Given the description of an element on the screen output the (x, y) to click on. 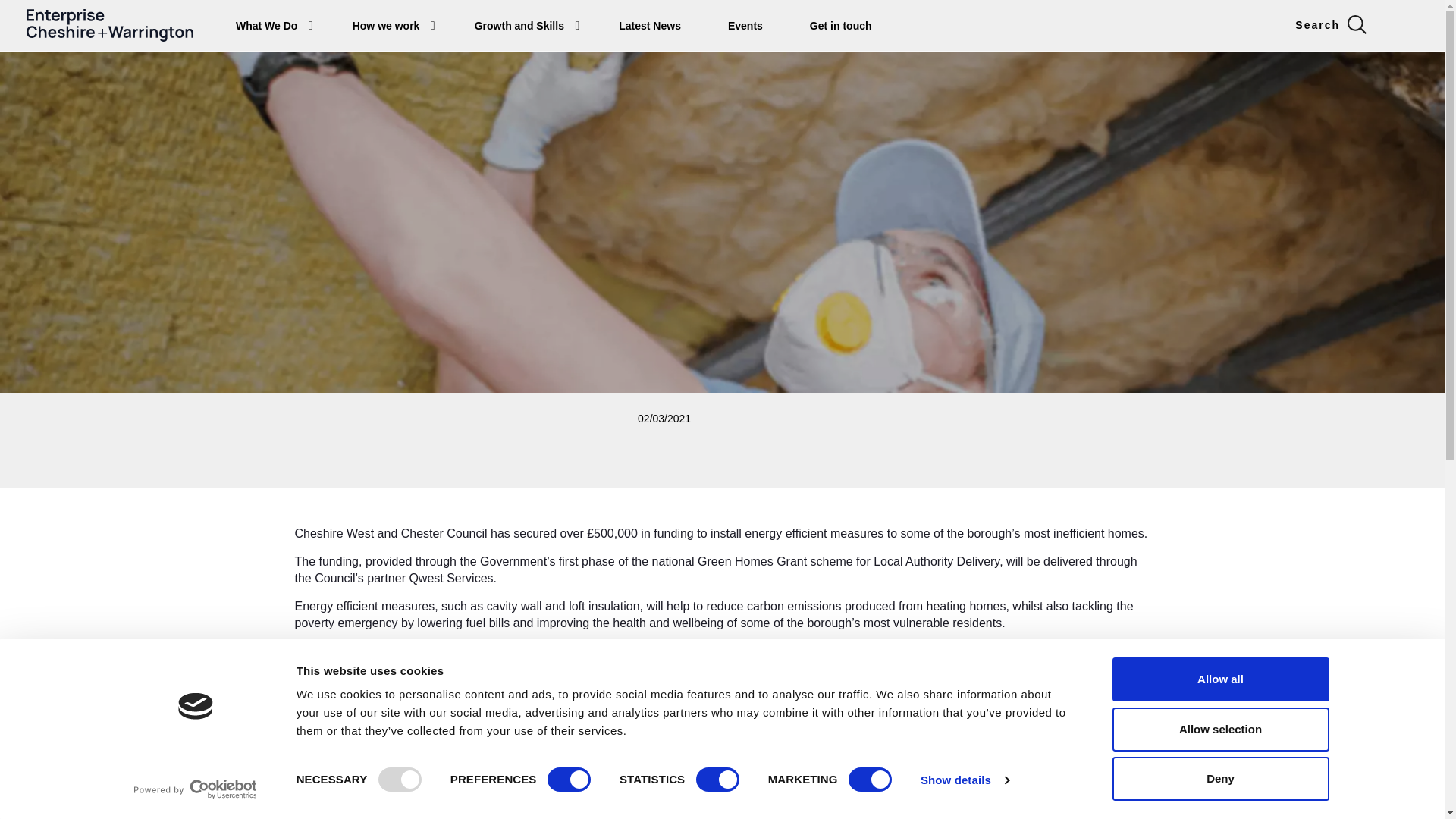
Allow selection (1219, 728)
Deny (1219, 778)
Show details (964, 780)
